Given the description of an element on the screen output the (x, y) to click on. 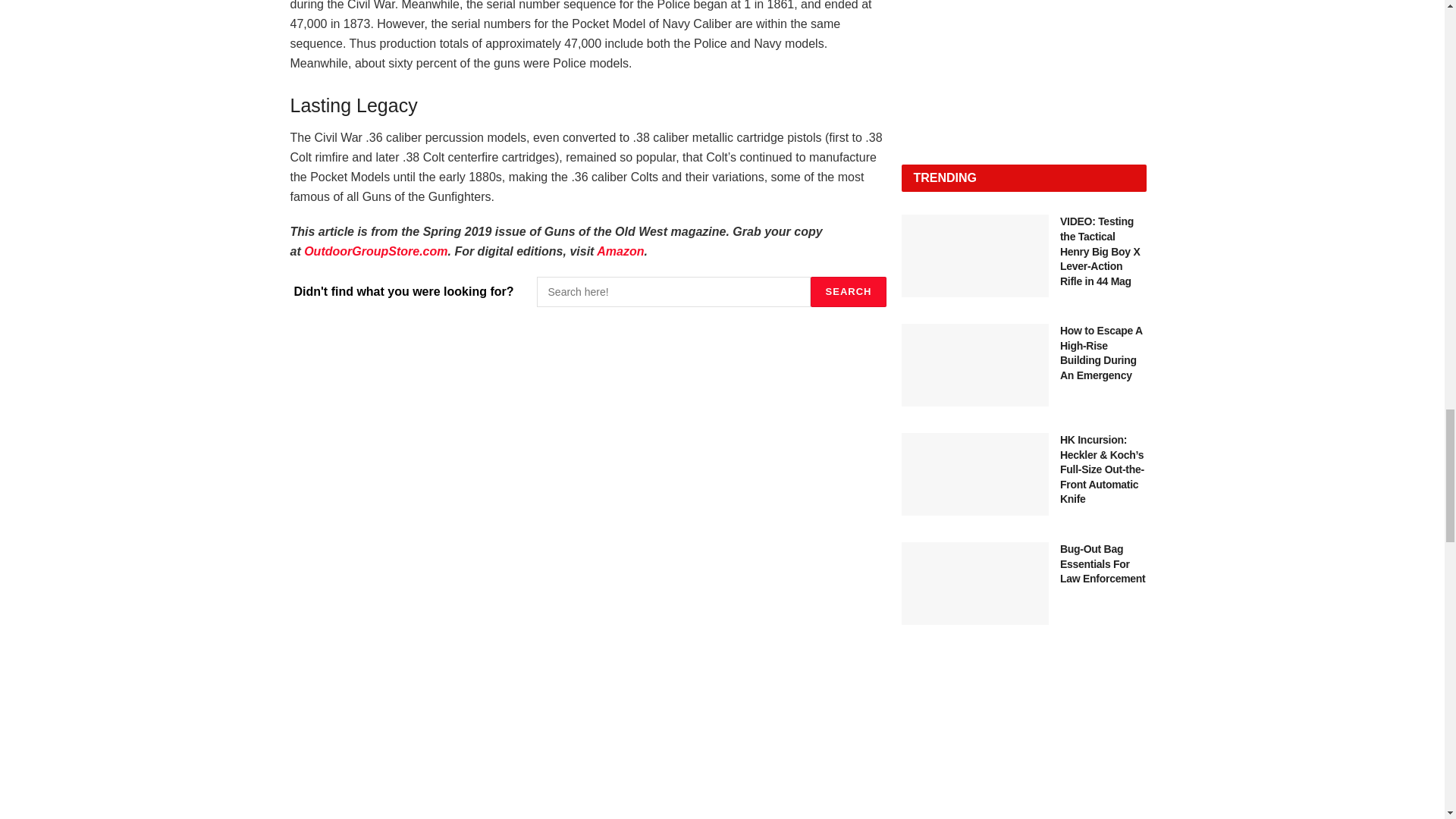
3rd party ad content (1024, 67)
3rd party ad content (1024, 750)
